Given the description of an element on the screen output the (x, y) to click on. 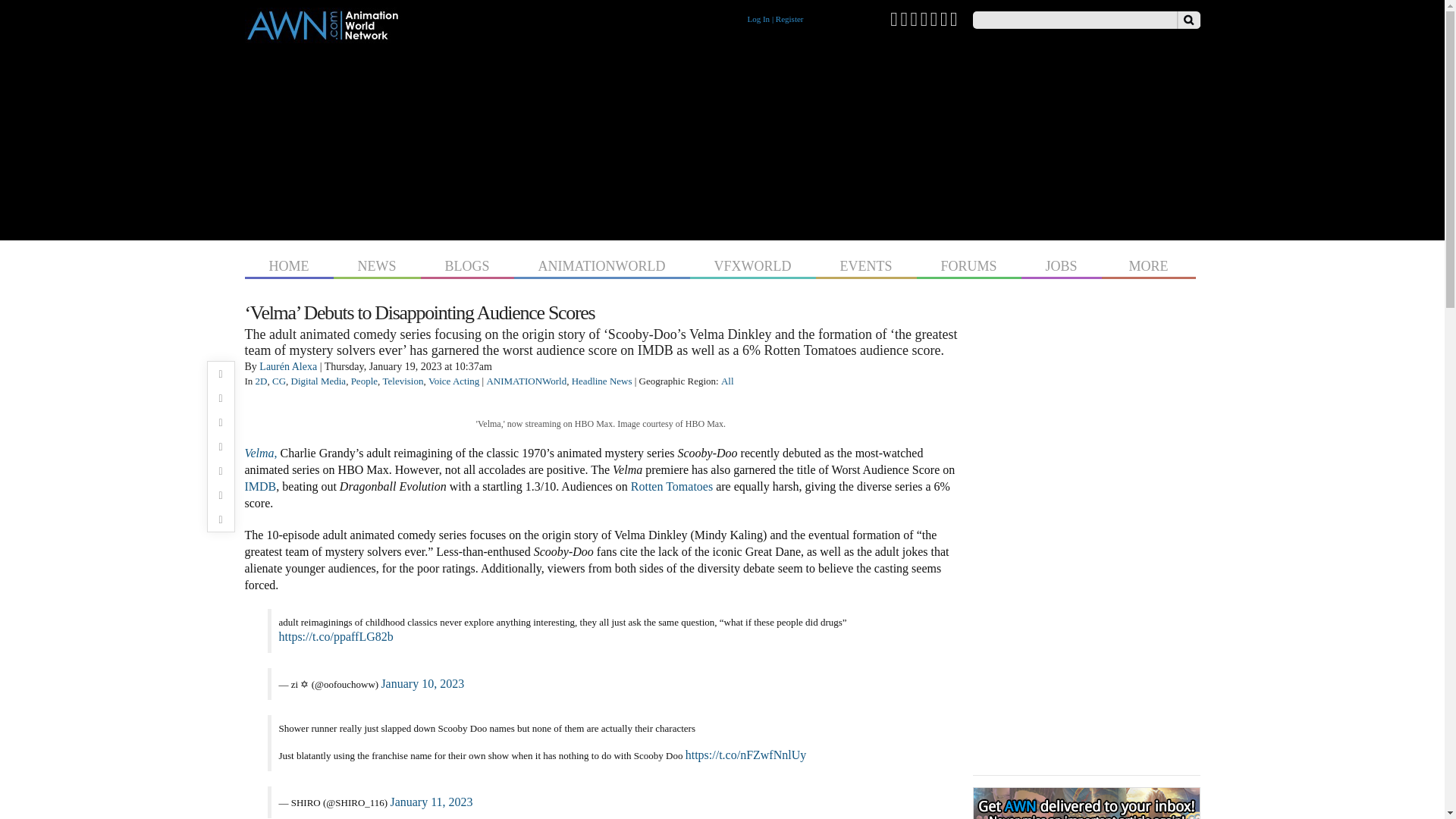
Animation World Network (321, 35)
CG (278, 380)
Register (789, 18)
Search (1187, 19)
NEWS (376, 263)
Enter the terms you wish to search for. (1074, 19)
BLOGS (466, 263)
EVENTS (866, 263)
Television (402, 380)
Digital Media (318, 380)
